Given the description of an element on the screen output the (x, y) to click on. 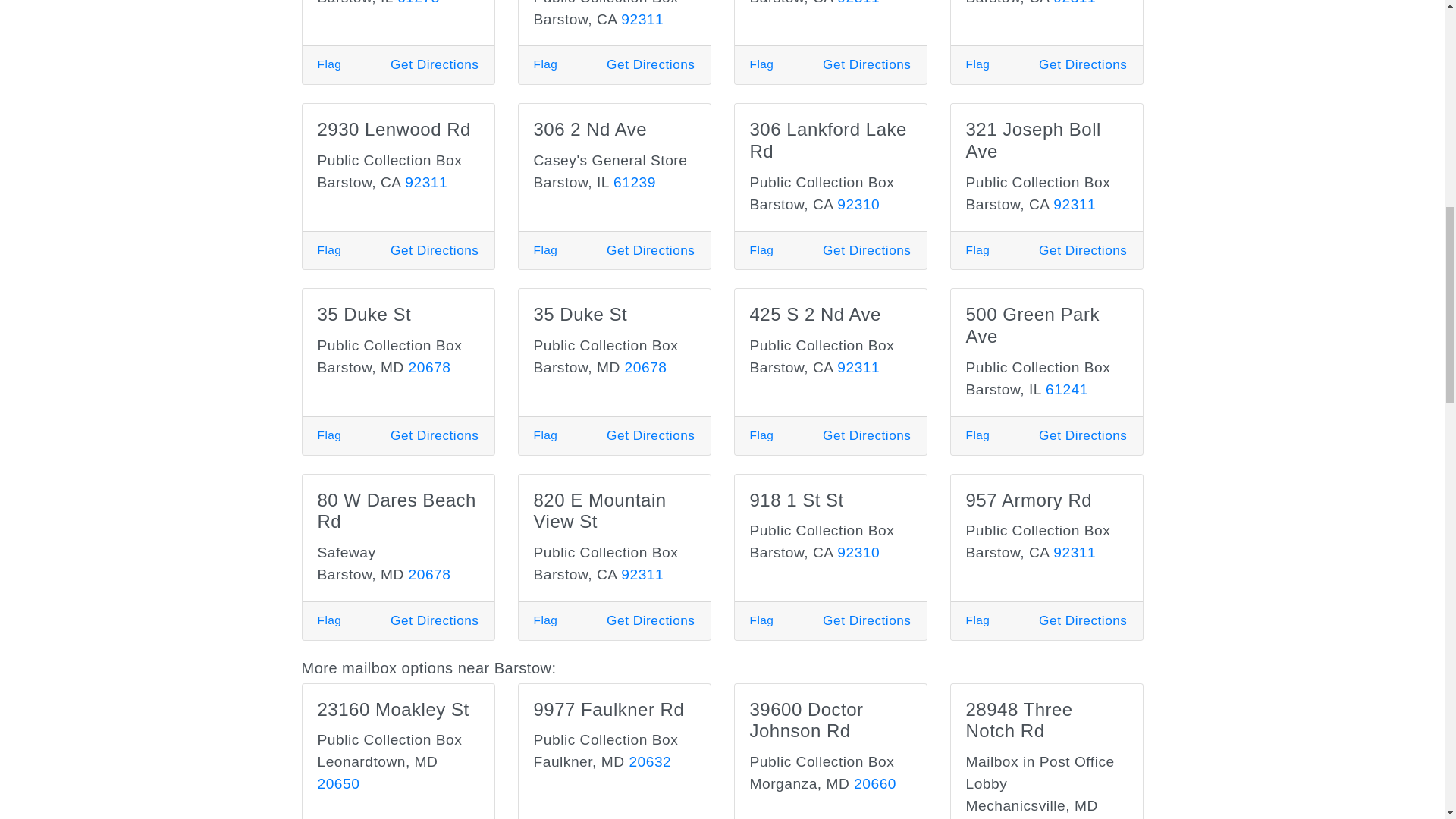
Get Directions (434, 64)
Flag (328, 63)
92311 (642, 19)
Flag (978, 63)
Flag (761, 63)
92311 (858, 2)
Get Directions (866, 64)
Get Directions (650, 64)
Flag (545, 63)
92311 (1074, 2)
61275 (418, 2)
